Given the description of an element on the screen output the (x, y) to click on. 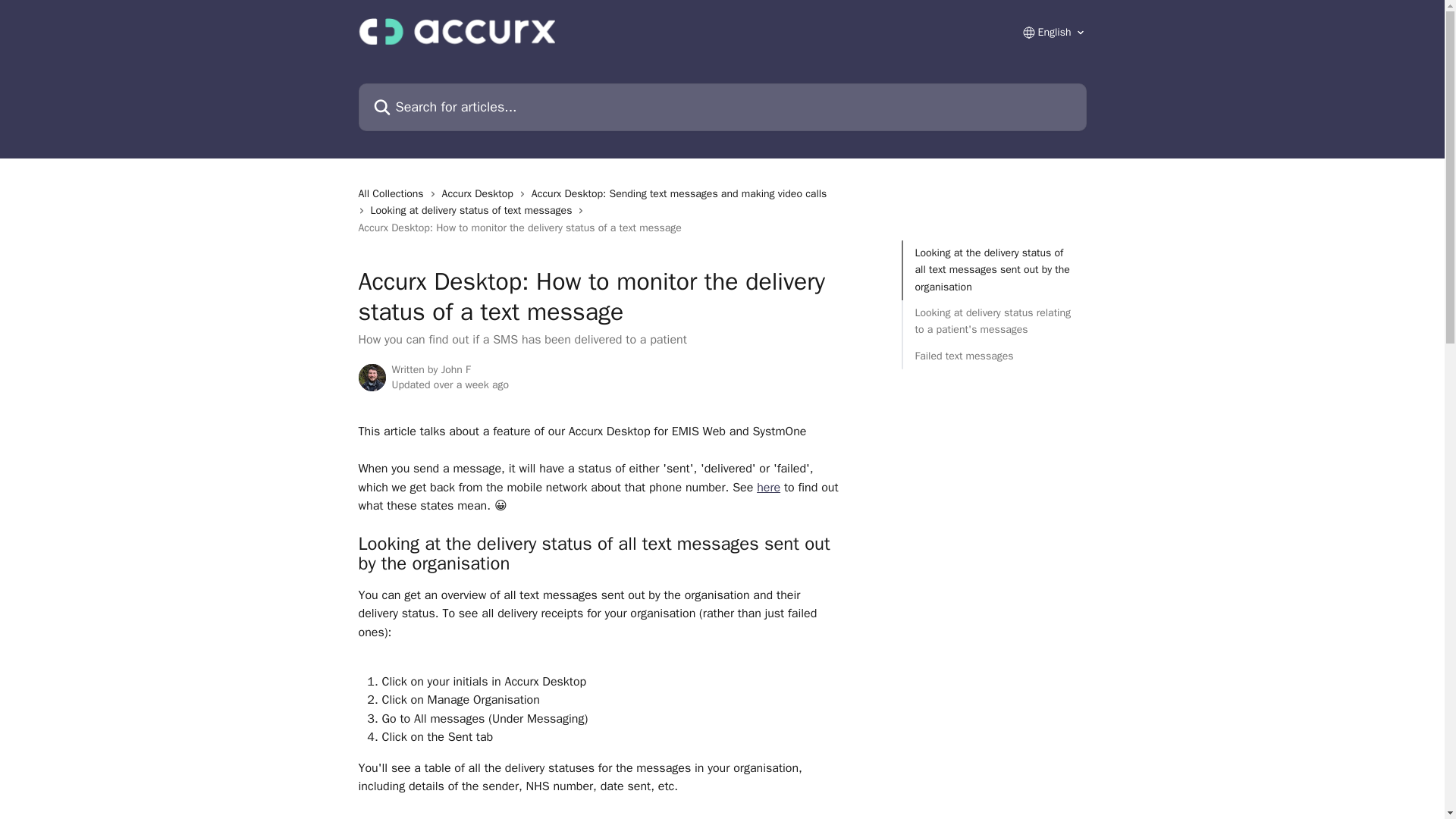
Accurx Desktop (480, 193)
Looking at delivery status relating to a patient's messages (994, 321)
here (768, 487)
Looking at delivery status of text messages (473, 210)
Accurx Desktop: Sending text messages and making video calls (681, 193)
Failed text messages (994, 356)
All Collections (393, 193)
